Given the description of an element on the screen output the (x, y) to click on. 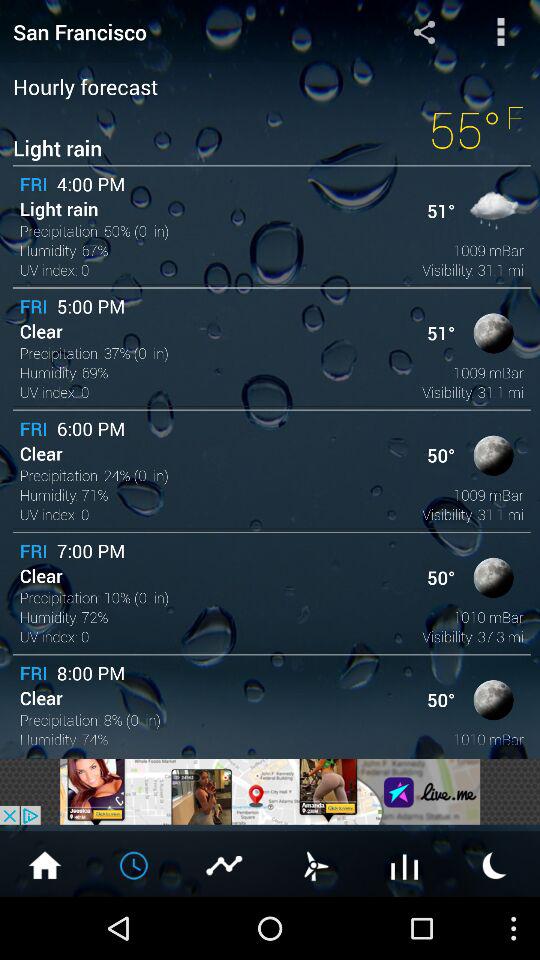
check time (135, 864)
